Given the description of an element on the screen output the (x, y) to click on. 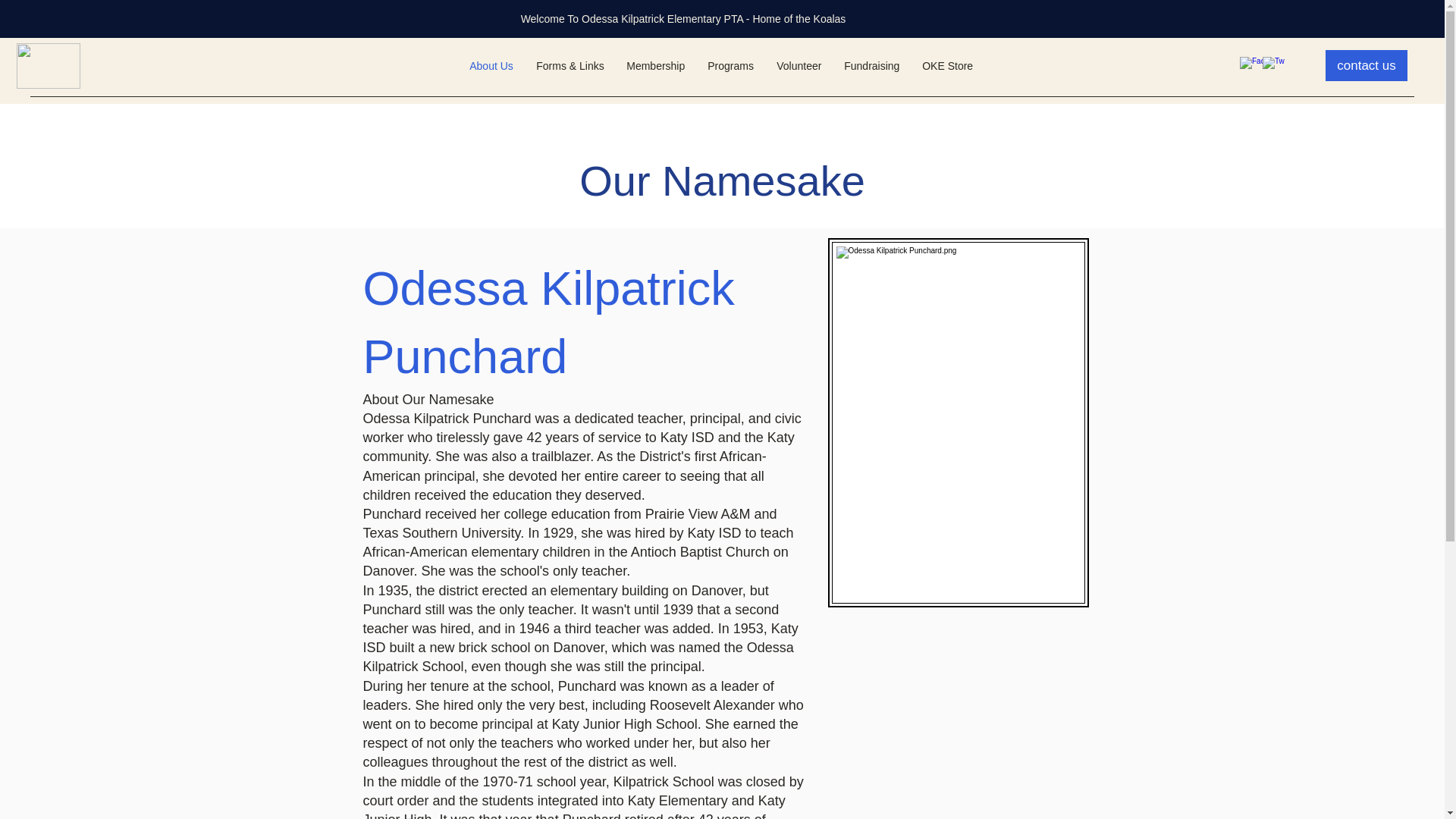
Fundraising (871, 65)
OKE PTA LOGO PNG.png (48, 65)
Membership (654, 65)
contact us (1365, 65)
About Us (491, 65)
OKE Store (947, 65)
Volunteer (798, 65)
Programs (730, 65)
